Given the description of an element on the screen output the (x, y) to click on. 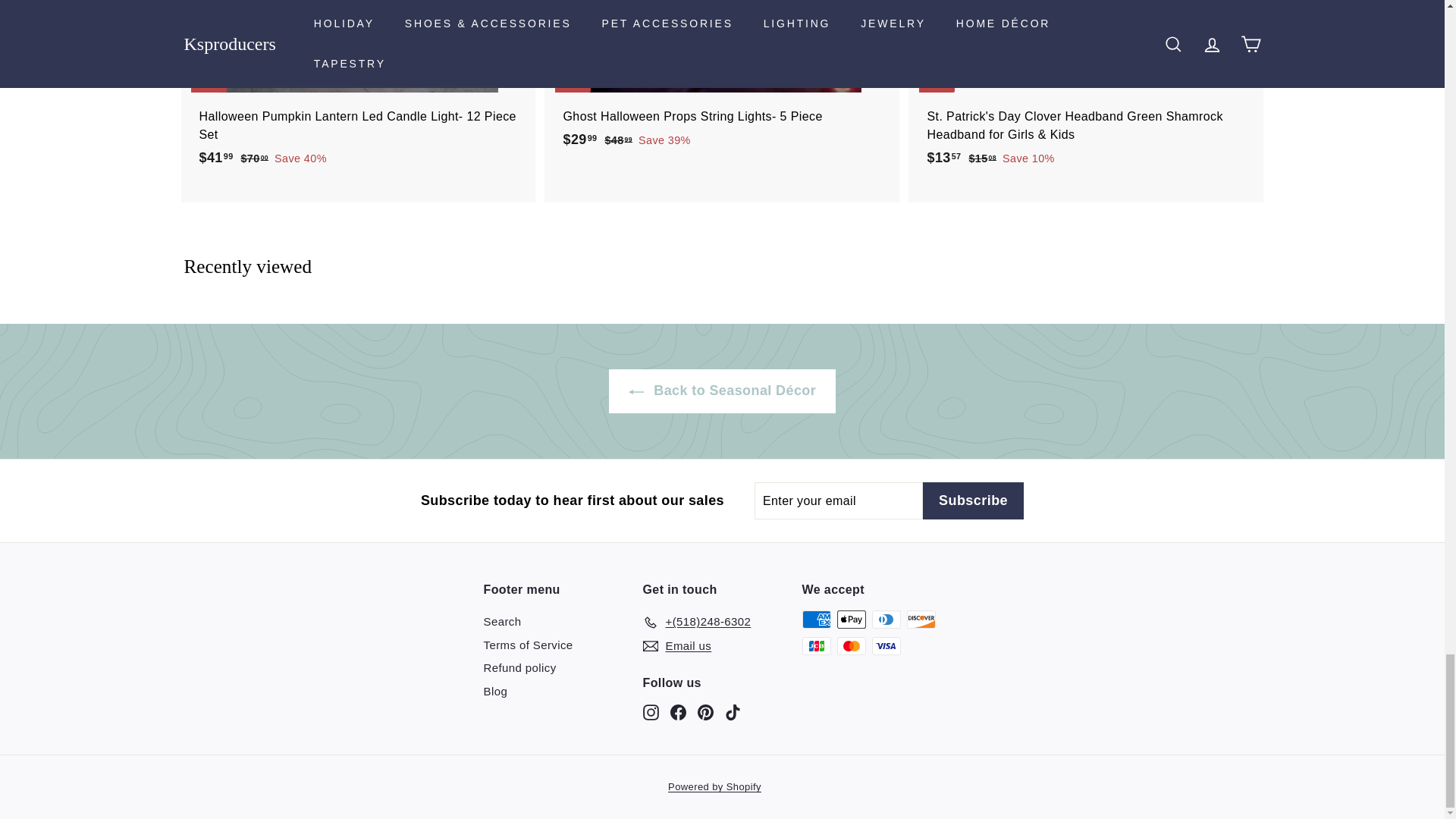
American Express (816, 619)
